Given the description of an element on the screen output the (x, y) to click on. 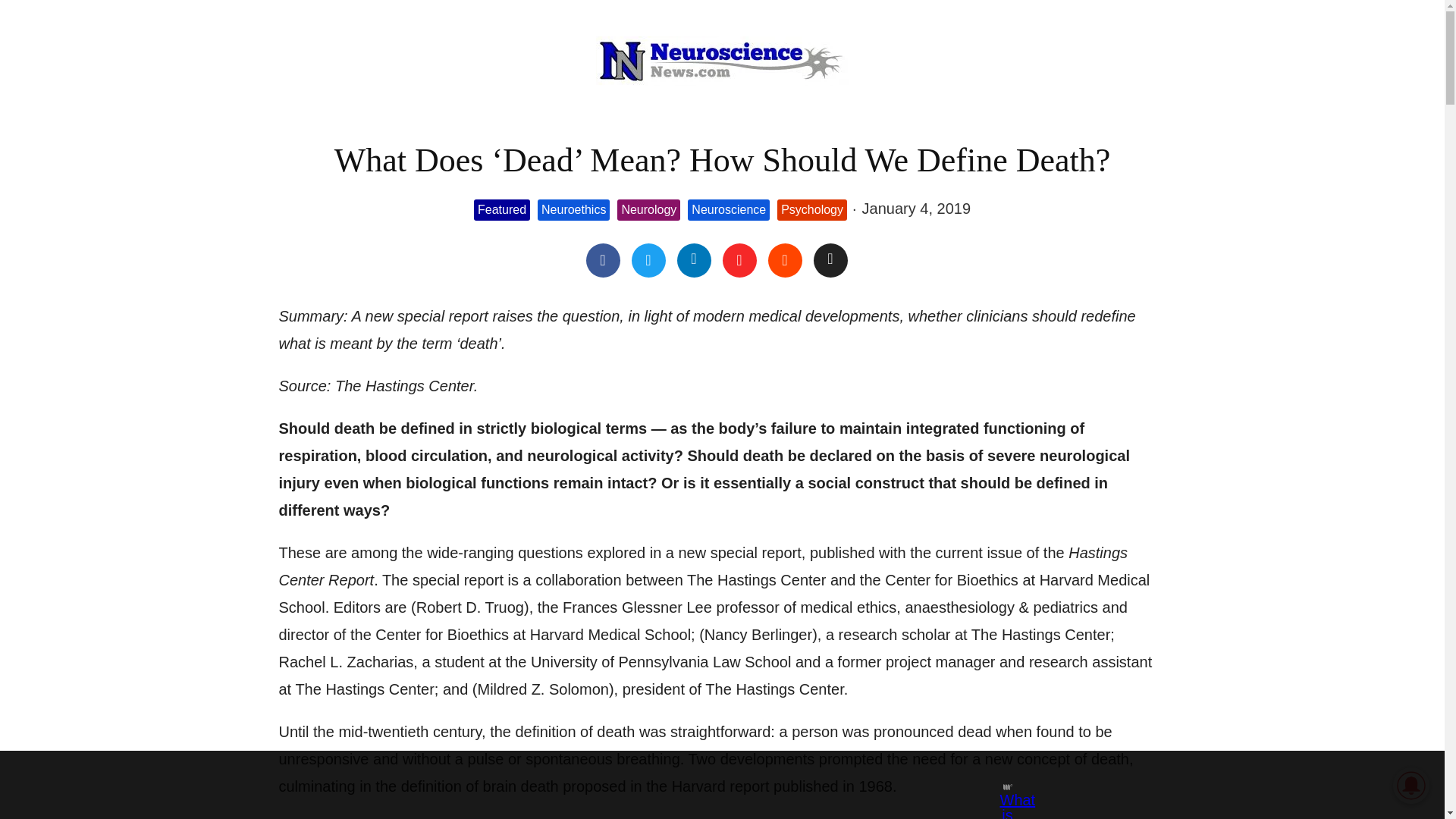
Psychology (812, 210)
Neuroscience (728, 210)
Neurology (648, 210)
Featured (501, 210)
Neuroethics (573, 210)
